Given the description of an element on the screen output the (x, y) to click on. 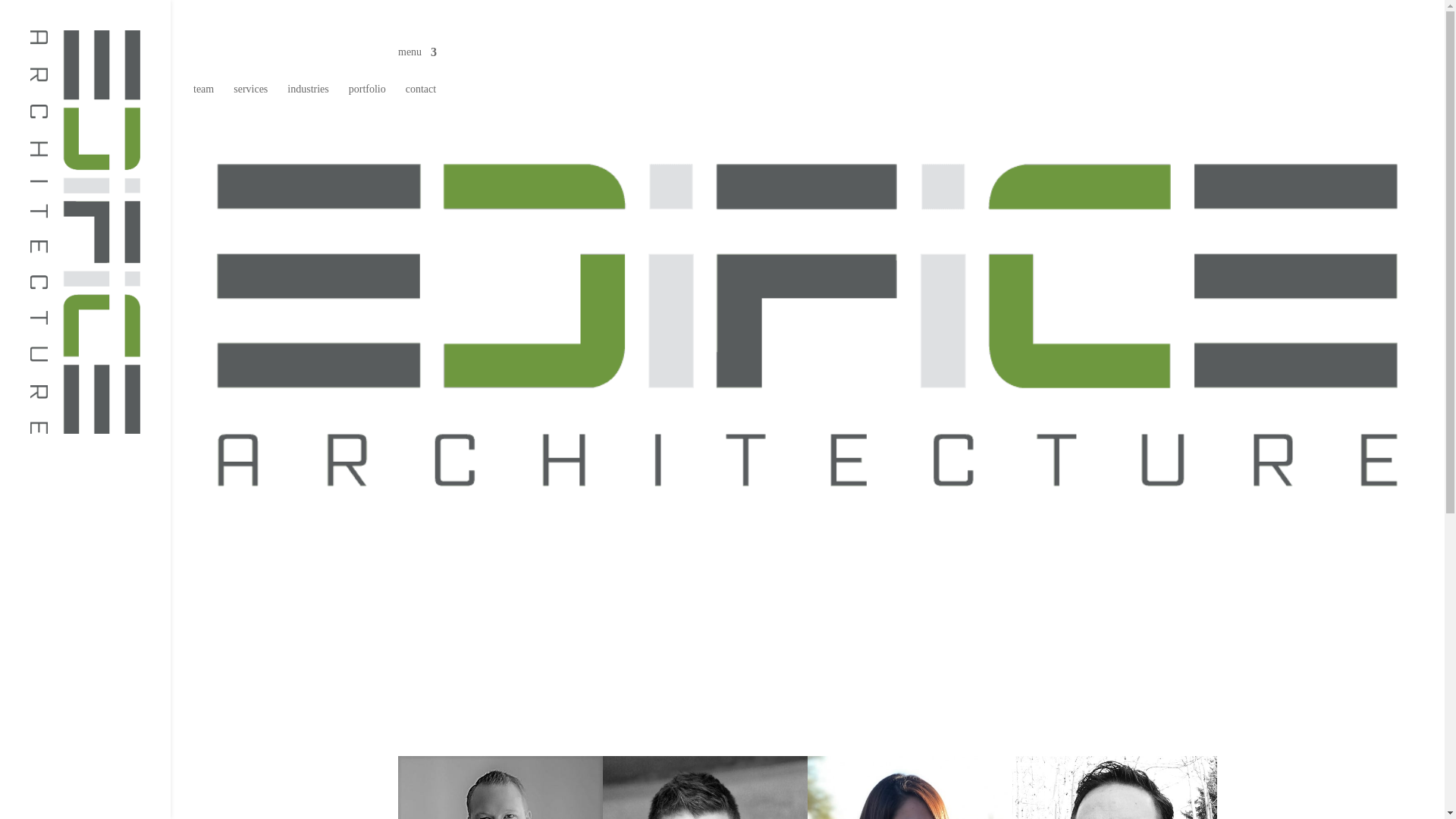
menu Element type: text (417, 63)
industries Element type: text (307, 100)
team Element type: text (203, 100)
contact Element type: text (420, 100)
portfolio Element type: text (366, 100)
services Element type: text (250, 100)
